Given the description of an element on the screen output the (x, y) to click on. 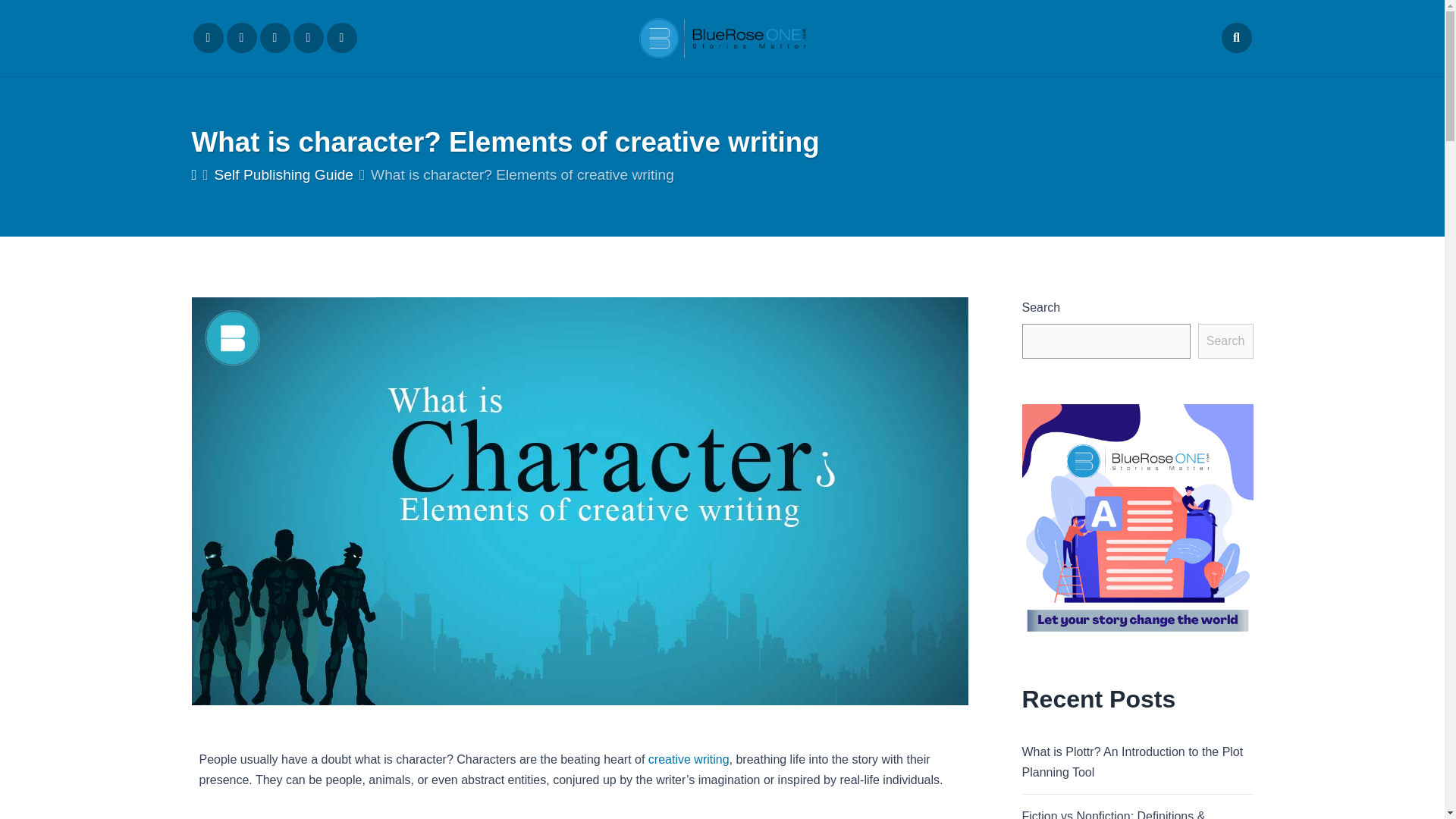
creative writing (688, 758)
Self Publishing Guide (283, 174)
